Given the description of an element on the screen output the (x, y) to click on. 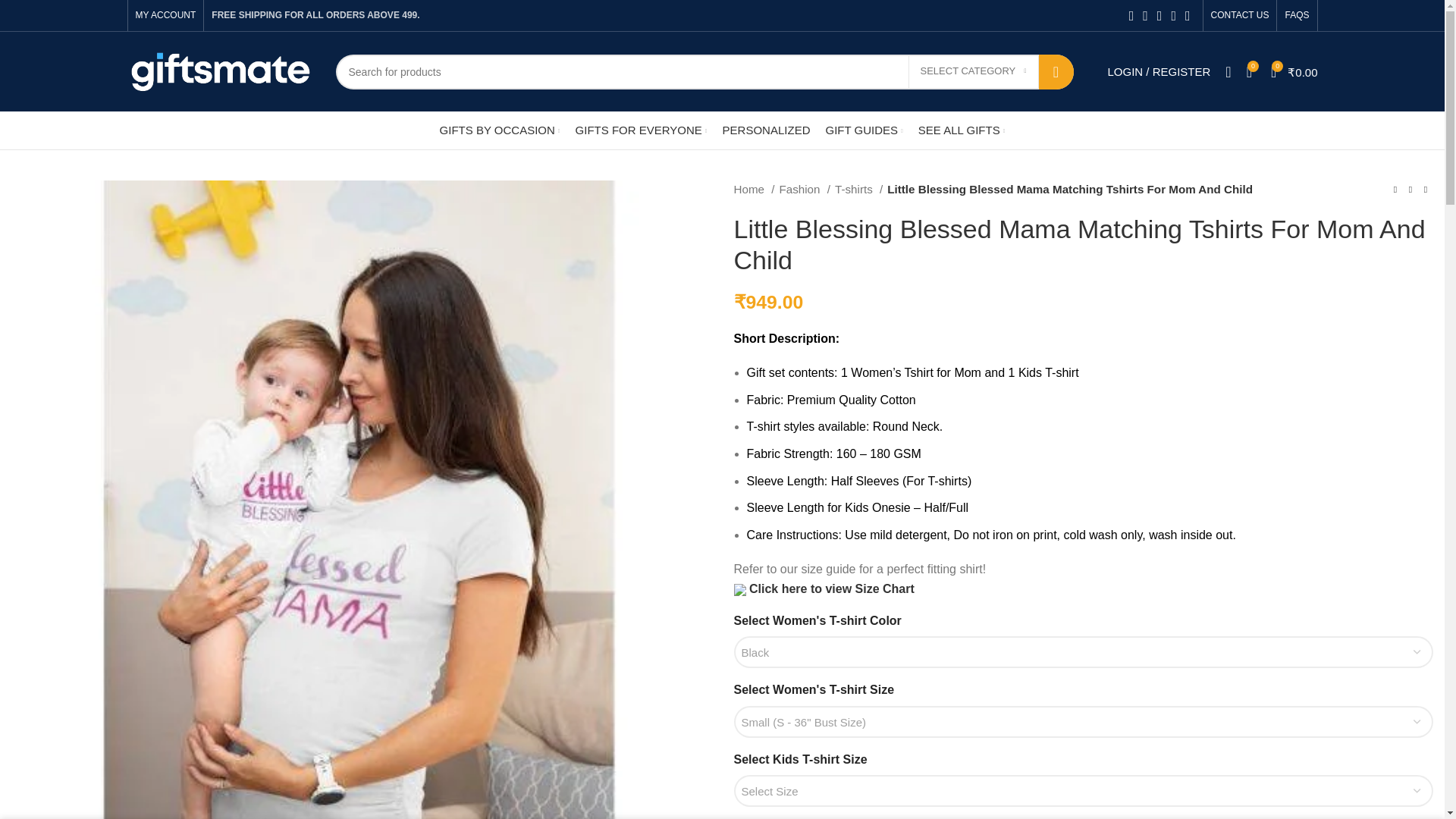
MY ACCOUNT (165, 15)
CONTACT US (1240, 15)
SELECT CATEGORY (973, 71)
My account (1158, 71)
Search for products (703, 71)
SELECT CATEGORY (973, 71)
Shopping cart (1293, 71)
